Given the description of an element on the screen output the (x, y) to click on. 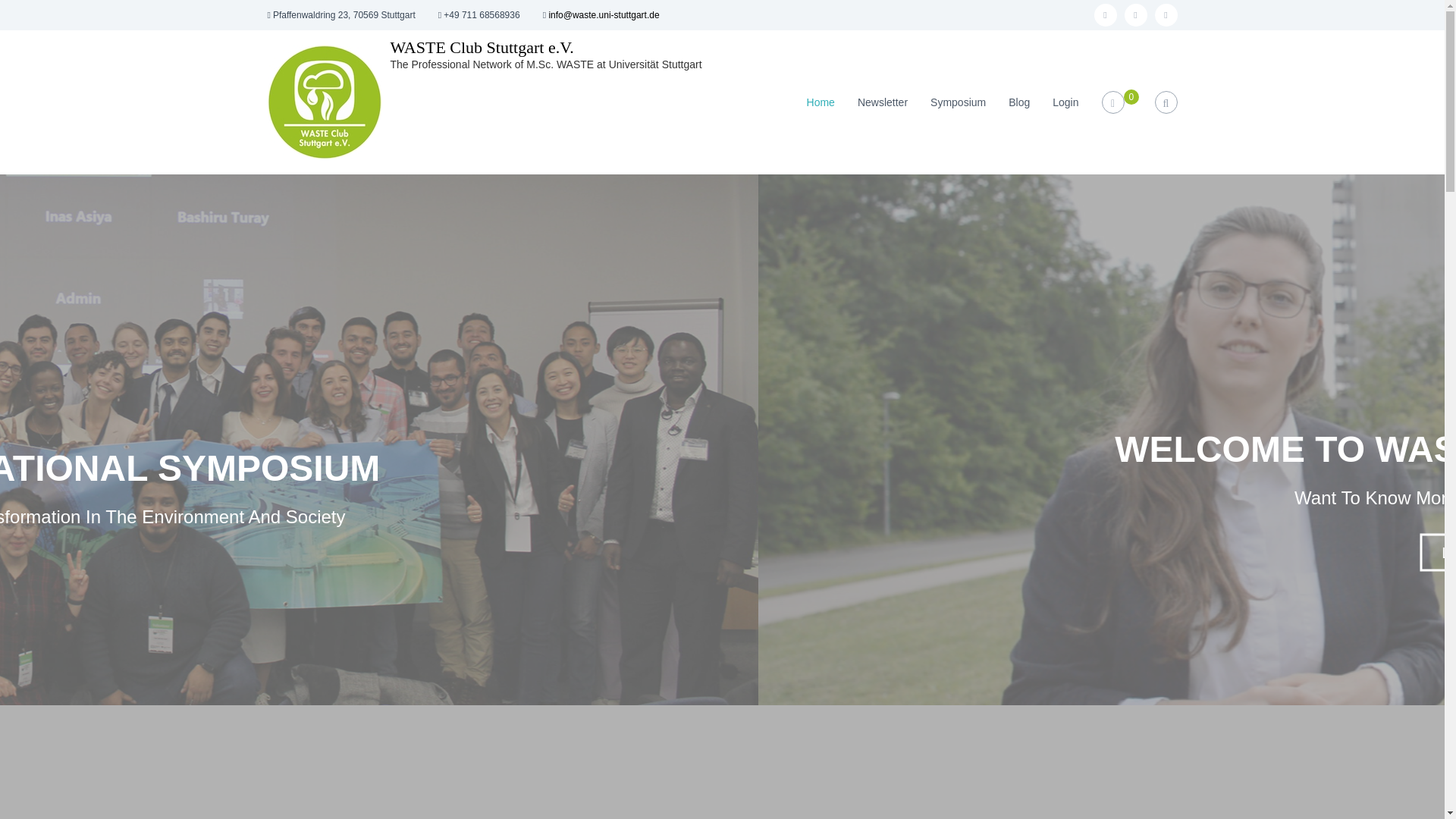
Blog (1019, 101)
WASTE Club Stuttgart e.V. (481, 46)
Symposium (957, 101)
Learn More (1437, 552)
Home (820, 101)
Newsletter (882, 101)
Login (1065, 101)
